Given the description of an element on the screen output the (x, y) to click on. 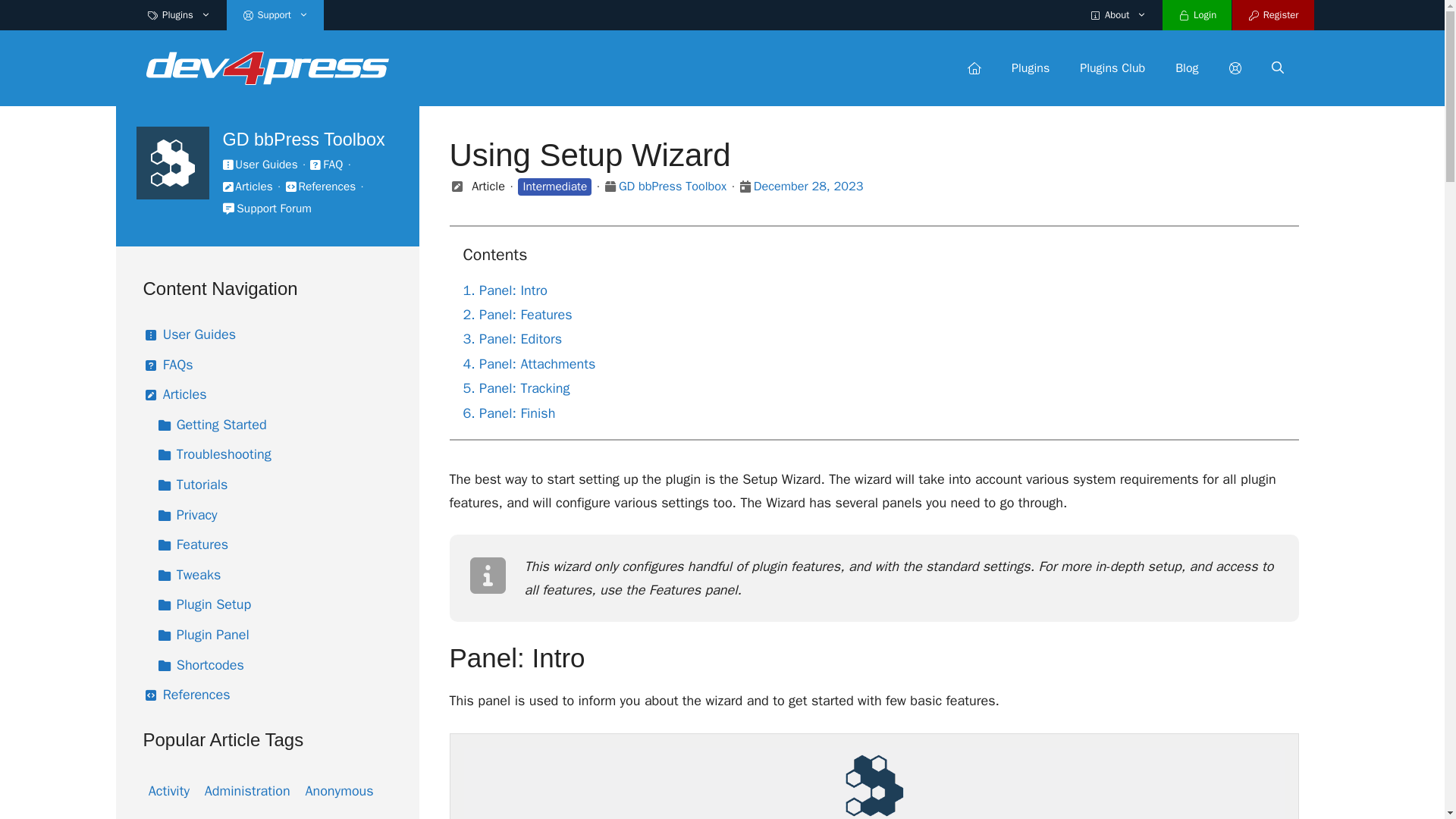
Dev4Press Support (266, 67)
Plugins (178, 15)
Blog (1186, 67)
Login (1196, 15)
Support (1233, 67)
Plugins Club (1112, 67)
Support (275, 15)
About (1117, 15)
Plugins (1029, 67)
Register (1272, 15)
